Given the description of an element on the screen output the (x, y) to click on. 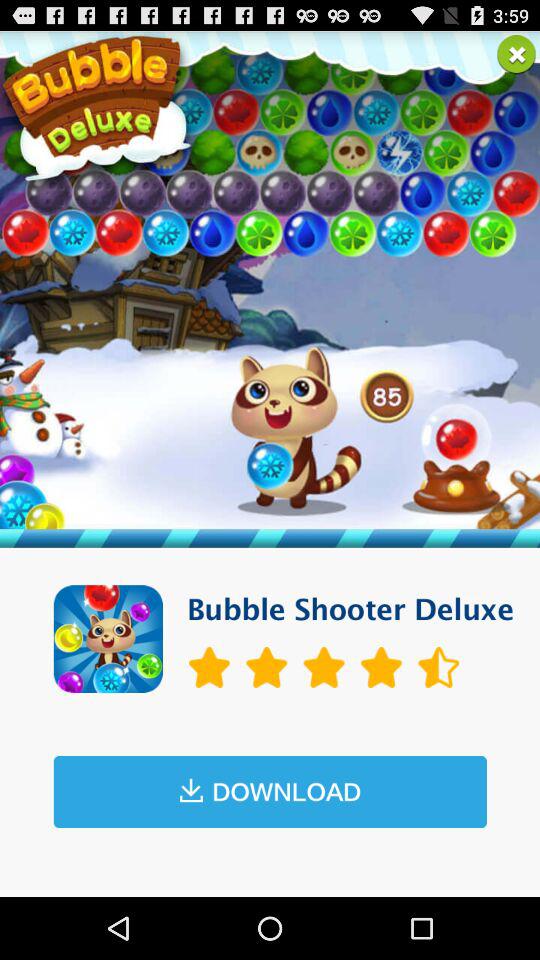
close item (516, 54)
